Given the description of an element on the screen output the (x, y) to click on. 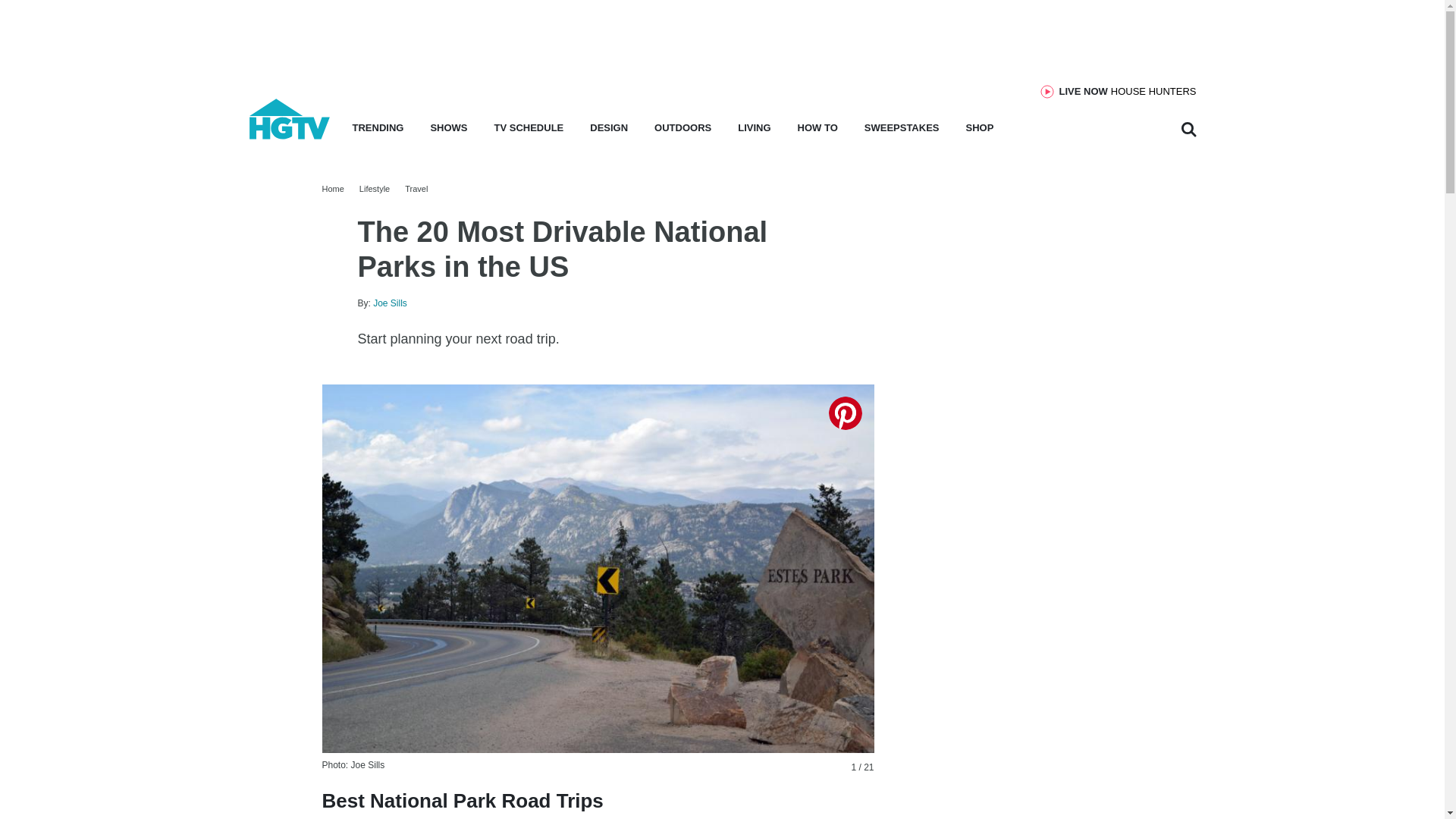
TV SCHEDULE (529, 132)
3rd party ad content (1028, 383)
home (289, 135)
3rd party ad content (1127, 91)
